Given the description of an element on the screen output the (x, y) to click on. 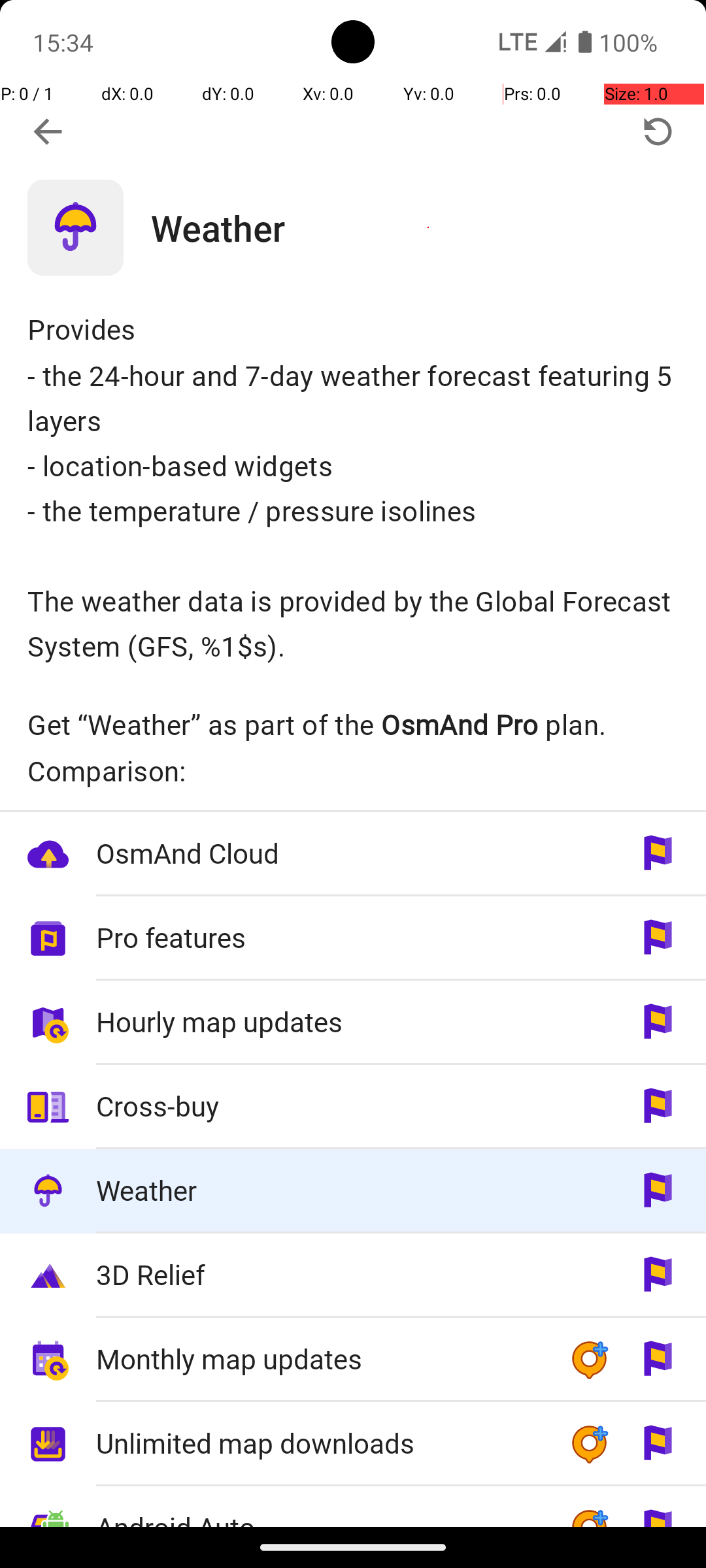
Weather Element type: android.widget.TextView (428, 227)
Restore purchases Element type: android.widget.ImageButton (657, 131)
Provides
- the 24-hour and 7-day weather forecast featuring 5 layers
- location-based widgets
- the temperature / pressure isolines

The weather data is provided by the Global Forecast System (GFS, %1$s). Element type: android.widget.TextView (353, 487)
Get “Weather” as part of the OsmAnd Pro plan. Comparison: Element type: android.widget.TextView (353, 747)
OsmAnd Cloud available as part of the OsmAnd Pro plan Element type: android.widget.LinearLayout (353, 854)
Pro features available as part of the OsmAnd Pro plan Element type: android.widget.LinearLayout (353, 938)
Hourly map updates available as part of the OsmAnd Pro plan Element type: android.widget.LinearLayout (353, 1022)
Cross-buy available as part of the OsmAnd Pro plan Element type: android.widget.LinearLayout (353, 1106)
Weather available as part of the OsmAnd Pro plan Element type: android.widget.LinearLayout (353, 1191)
3D Relief available as part of the OsmAnd Pro plan Element type: android.widget.LinearLayout (353, 1275)
Monthly map updates available as part of the OsmAnd+ or OsmAnd Pro plan Element type: android.widget.LinearLayout (353, 1359)
Unlimited map downloads available as part of the OsmAnd+ or OsmAnd Pro plan Element type: android.widget.LinearLayout (353, 1444)
Android Auto available as part of the OsmAnd+ or OsmAnd Pro plan Element type: android.widget.LinearLayout (353, 1506)
OsmAnd Cloud Element type: android.widget.TextView (318, 852)
Pro features Element type: android.widget.TextView (318, 936)
Hourly map updates Element type: android.widget.TextView (318, 1021)
Cross-buy Element type: android.widget.TextView (318, 1105)
3D Relief Element type: android.widget.TextView (318, 1273)
Monthly map updates Element type: android.widget.TextView (318, 1358)
Unlimited map downloads Element type: android.widget.TextView (318, 1442)
Android Auto Element type: android.widget.TextView (318, 1506)
